Given the description of an element on the screen output the (x, y) to click on. 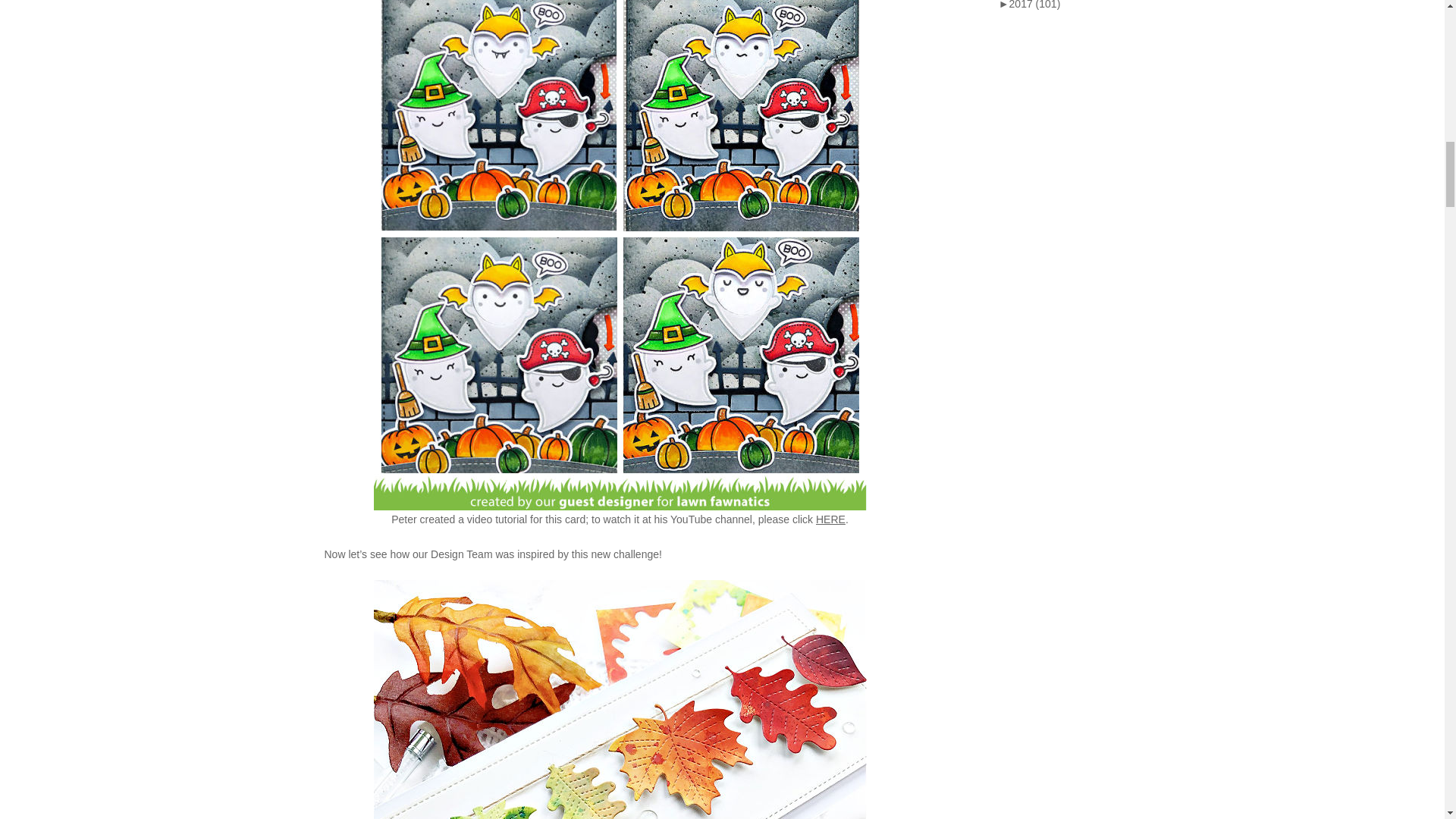
HERE (830, 519)
